Given the description of an element on the screen output the (x, y) to click on. 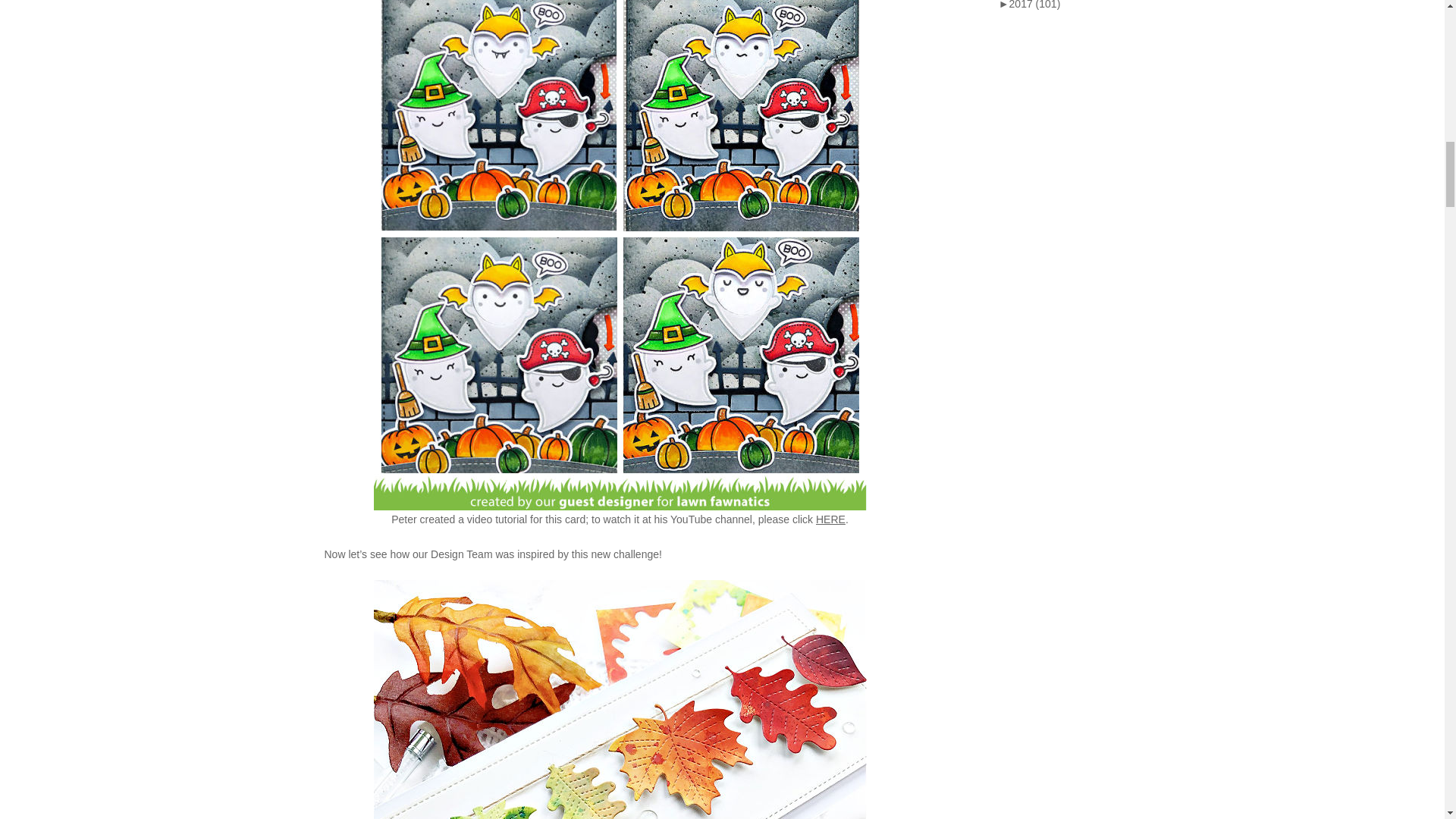
HERE (830, 519)
